Given the description of an element on the screen output the (x, y) to click on. 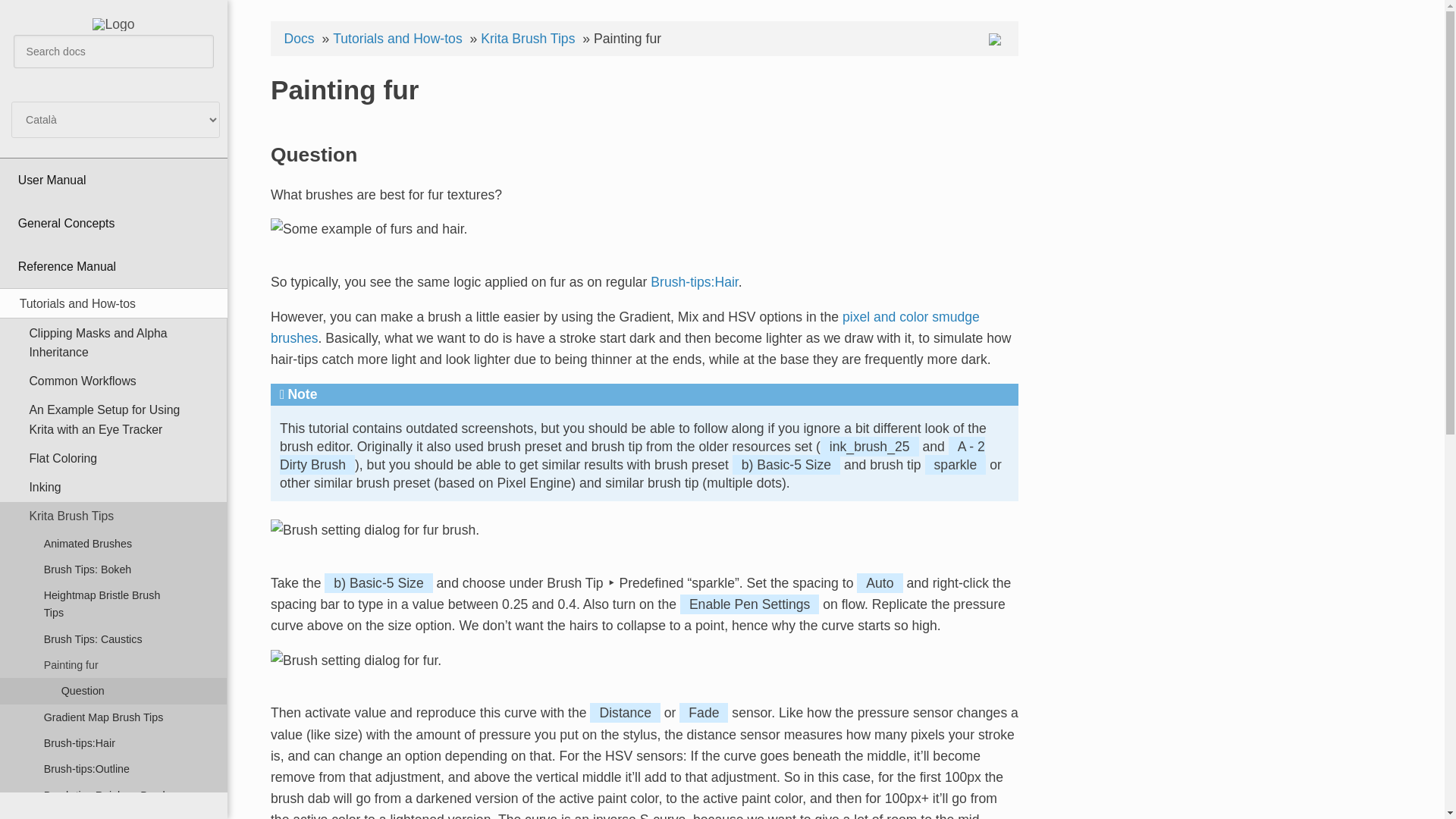
Painting fur (113, 664)
Krita Brush Tips (529, 38)
Inking (113, 487)
Tutorials and How-tos (113, 303)
Animated Brushes (113, 543)
Brush Tips: Bokeh (113, 569)
Brush-tips:Hair (694, 281)
Gradient Map Brush Tips (113, 717)
Docs (300, 38)
Question (113, 690)
Common Workflows (113, 380)
Brush Tips: Caustics (113, 638)
Tutorials and How-tos (399, 38)
Heightmap Bristle Brush Tips (113, 604)
Brush-tips:Rainbow Brush (113, 795)
